Given the description of an element on the screen output the (x, y) to click on. 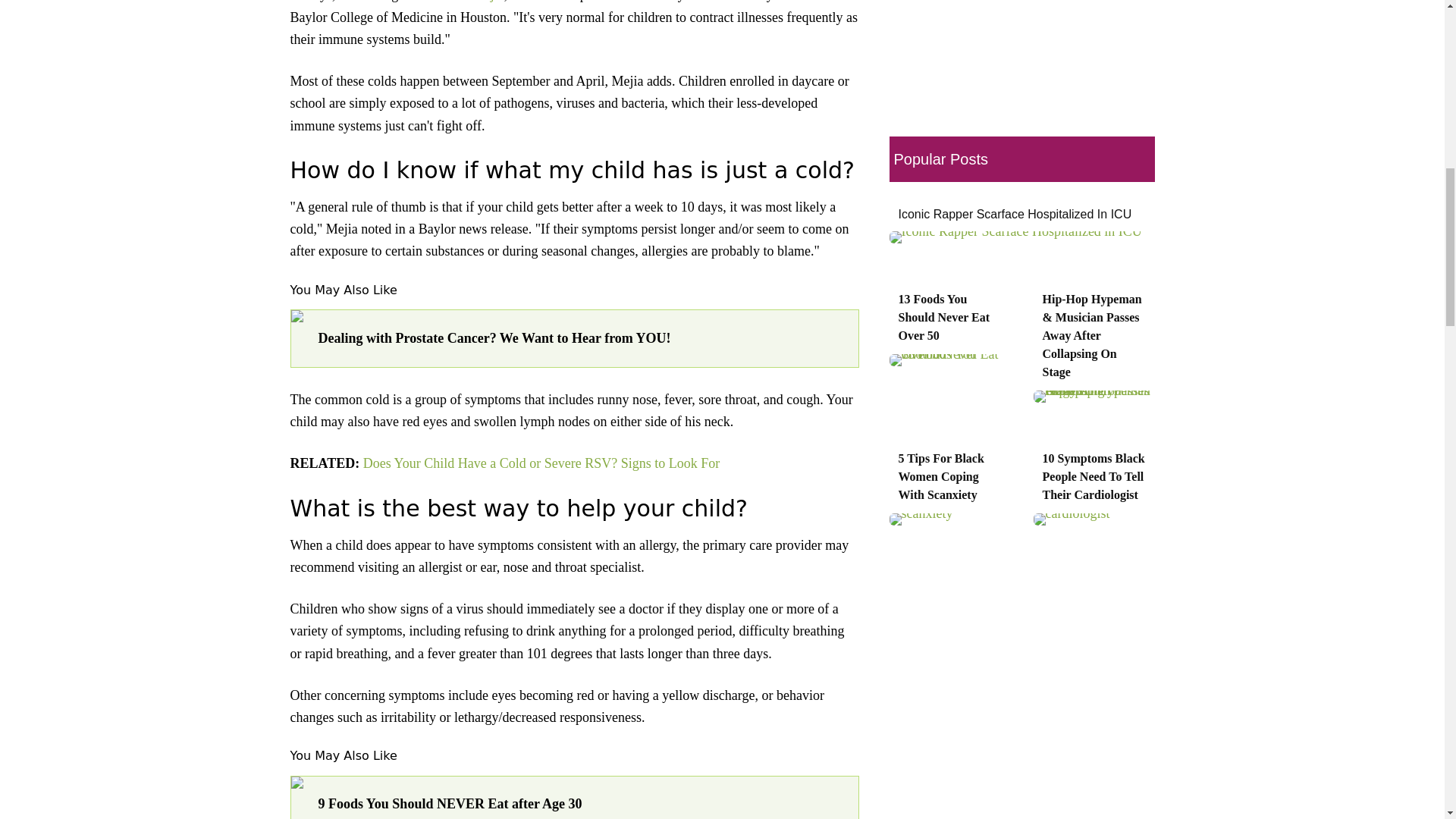
9 Foods You Should NEVER Eat after Age 30 (580, 803)
Dealing with Prostate Cancer? We Want to Hear from YOU! (580, 338)
Does Your Child Have a Cold or Severe RSV? Signs to Look For (541, 462)
Dr. Maria Mejia (458, 1)
